Given the description of an element on the screen output the (x, y) to click on. 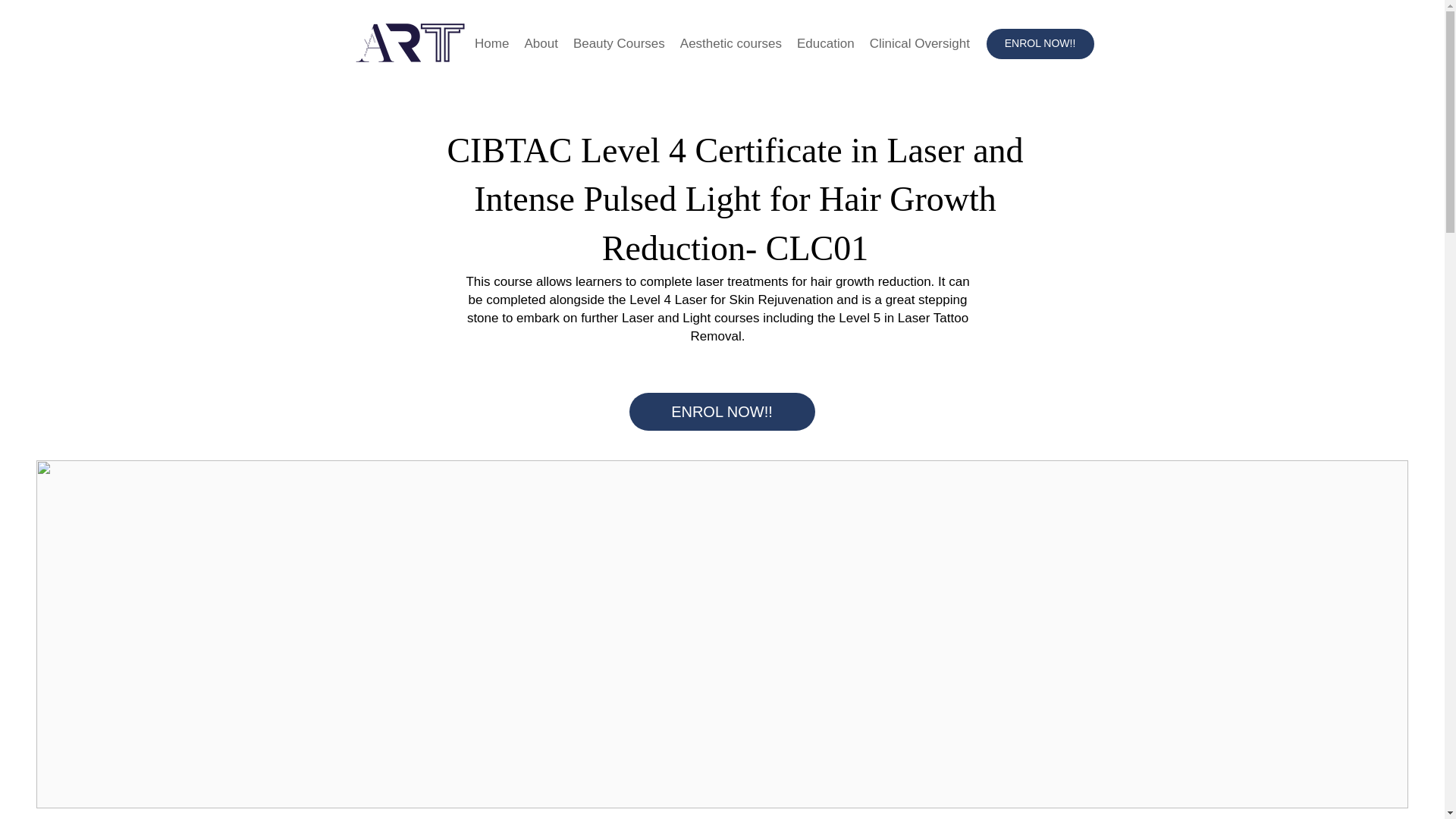
Education (825, 43)
ENROL NOW!! (1039, 43)
Home (491, 43)
Clinical Oversight (918, 43)
ENROL NOW!! (721, 411)
